Given the description of an element on the screen output the (x, y) to click on. 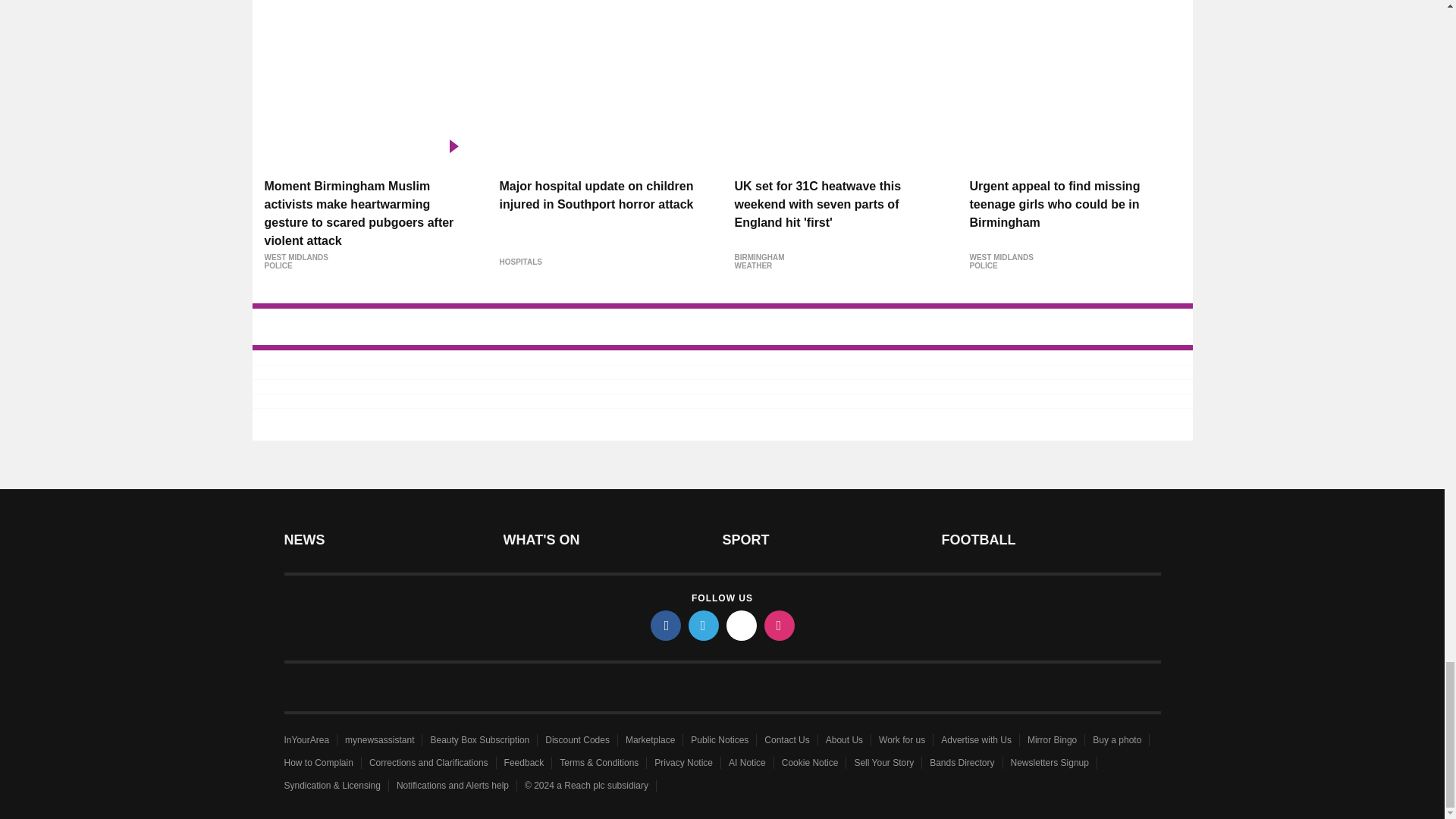
facebook (665, 625)
twitter (703, 625)
tiktok (741, 625)
instagram (779, 625)
